Given the description of an element on the screen output the (x, y) to click on. 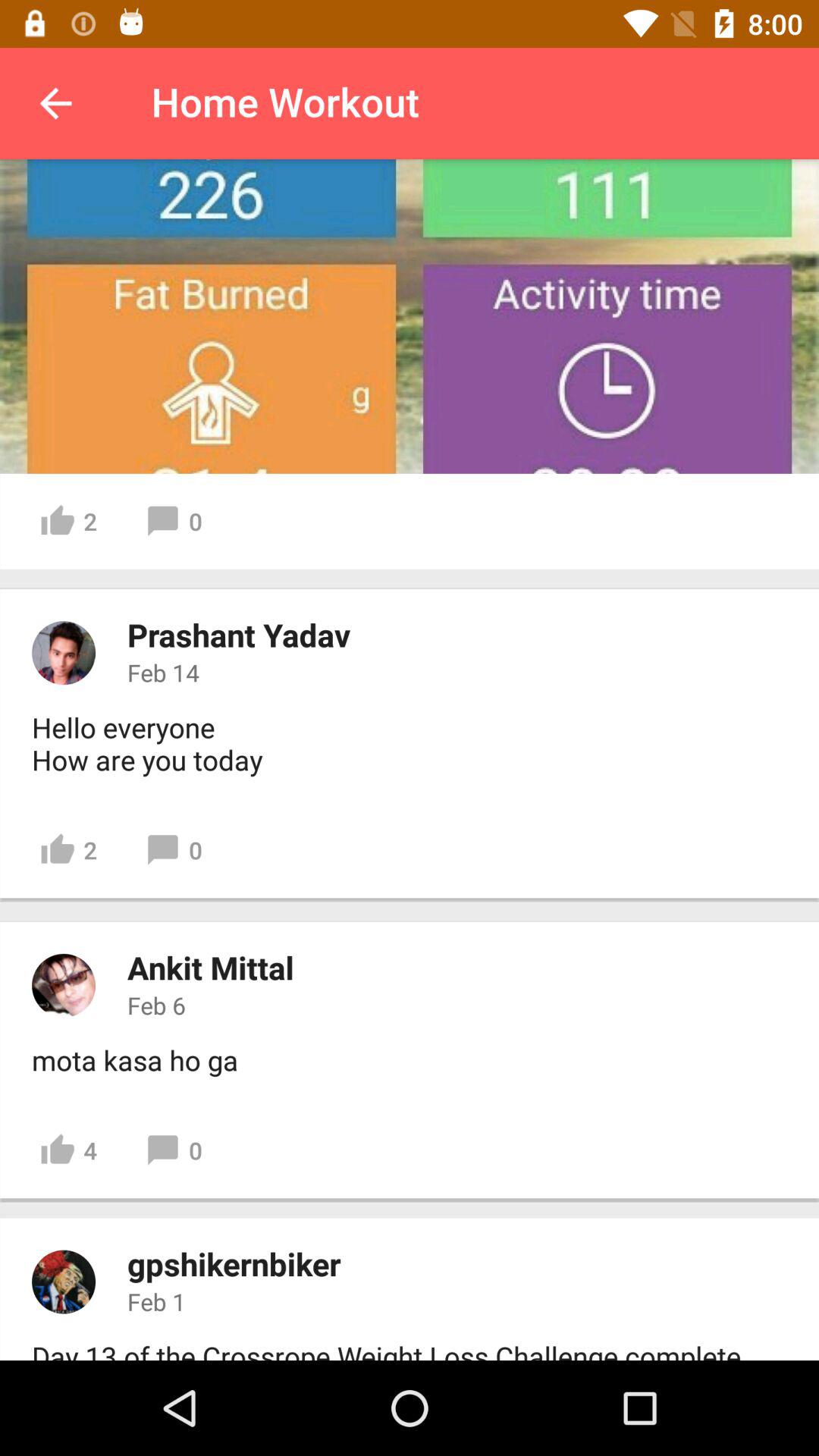
turn on the icon below feb 6 item (134, 1059)
